Given the description of an element on the screen output the (x, y) to click on. 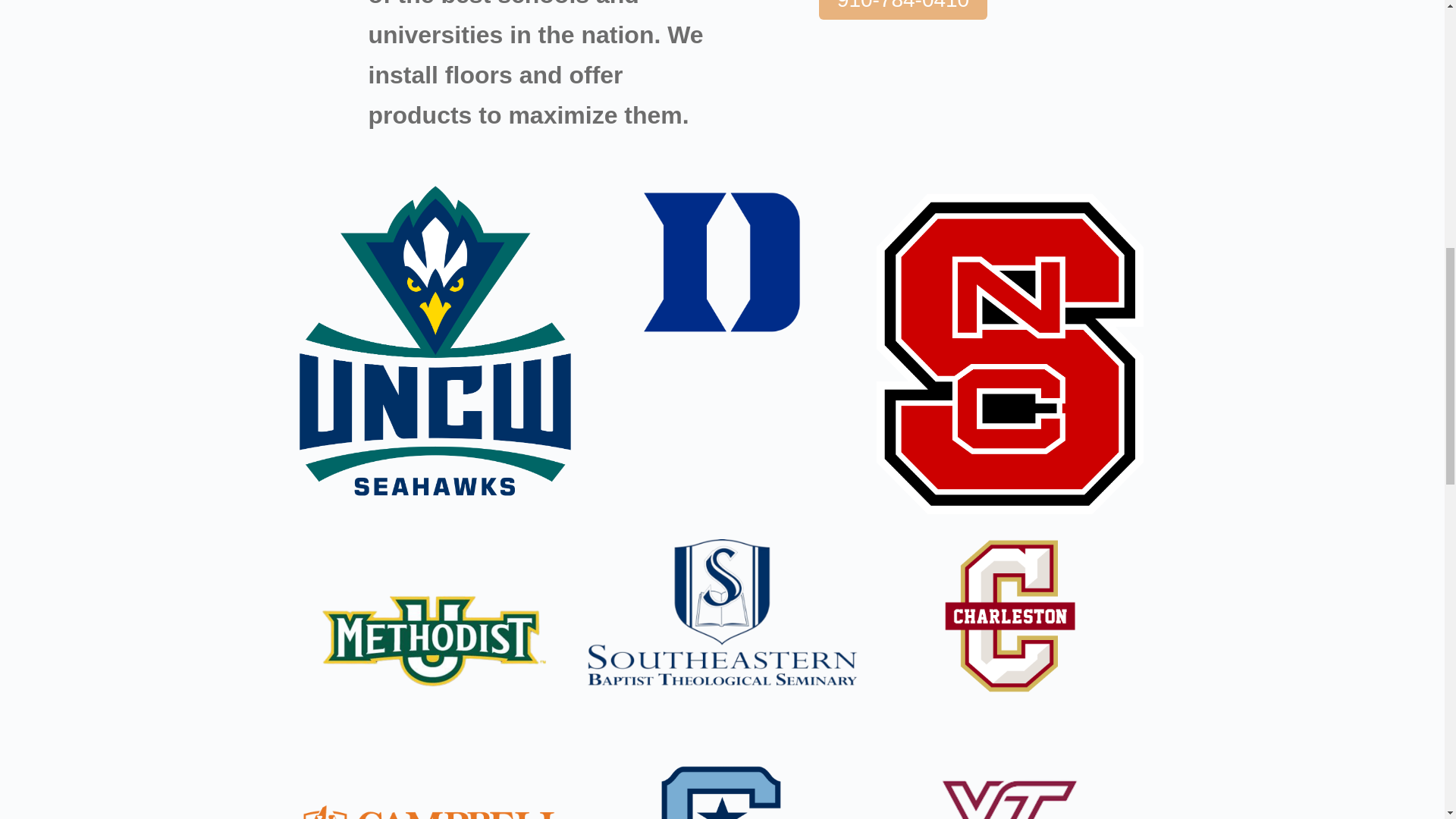
College-of-Charleston-Cougars-Logo (1010, 615)
Untitled design-166 (433, 640)
910-784-0410 (902, 9)
Untitled design-167 (722, 614)
